Given the description of an element on the screen output the (x, y) to click on. 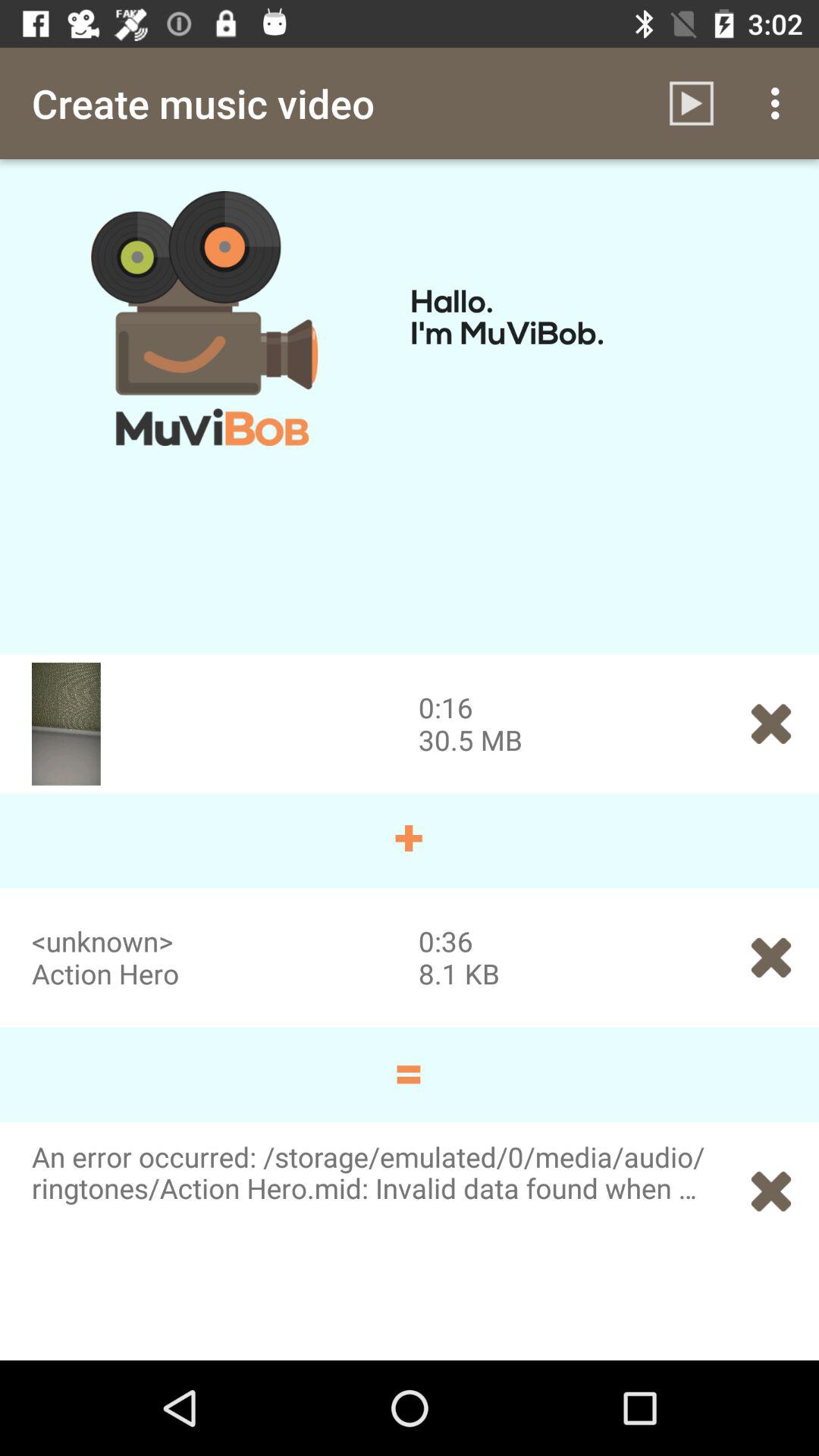
open icon below the = (771, 1191)
